Given the description of an element on the screen output the (x, y) to click on. 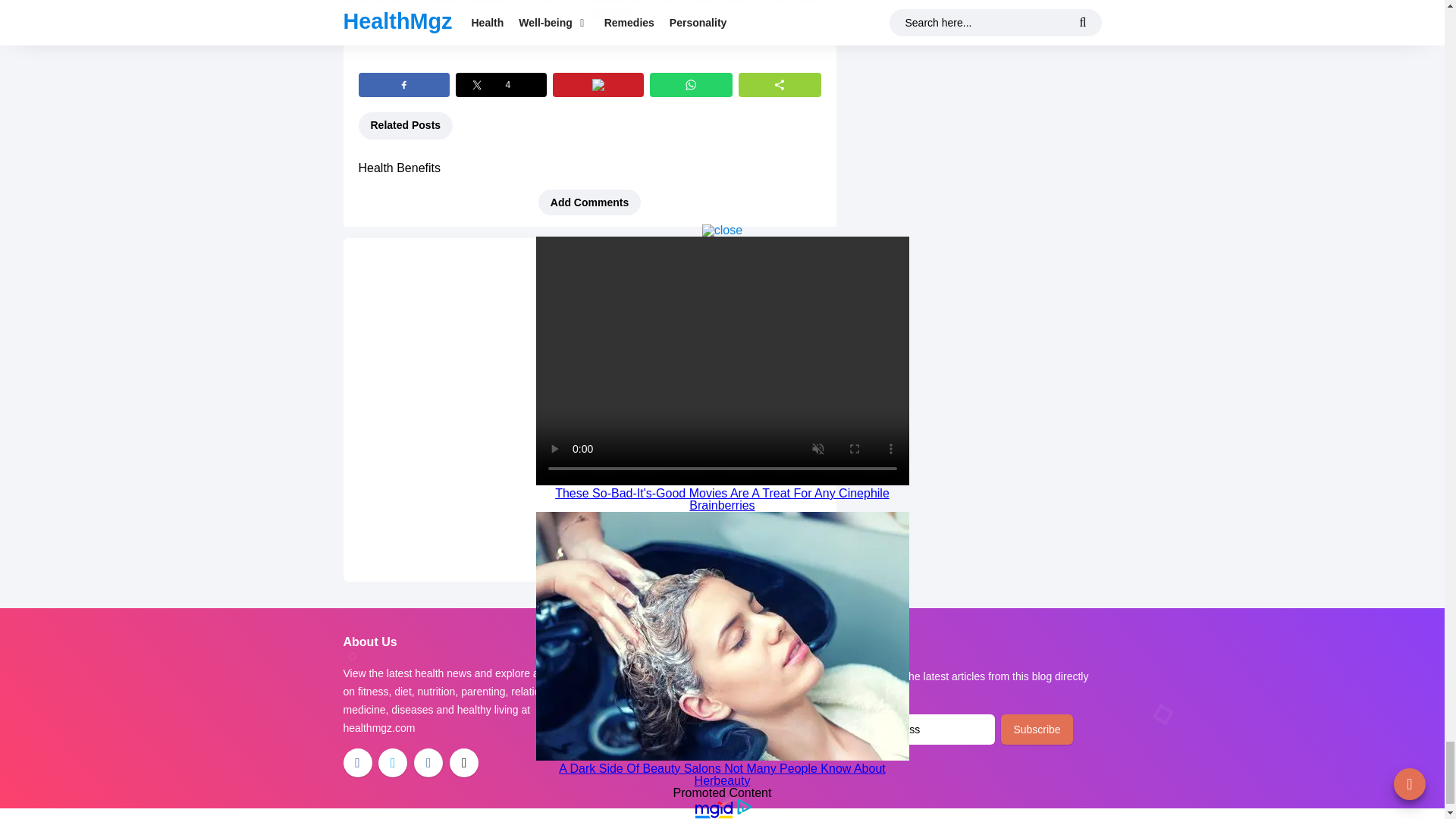
Email address (918, 729)
Subscribe (1036, 729)
